Given the description of an element on the screen output the (x, y) to click on. 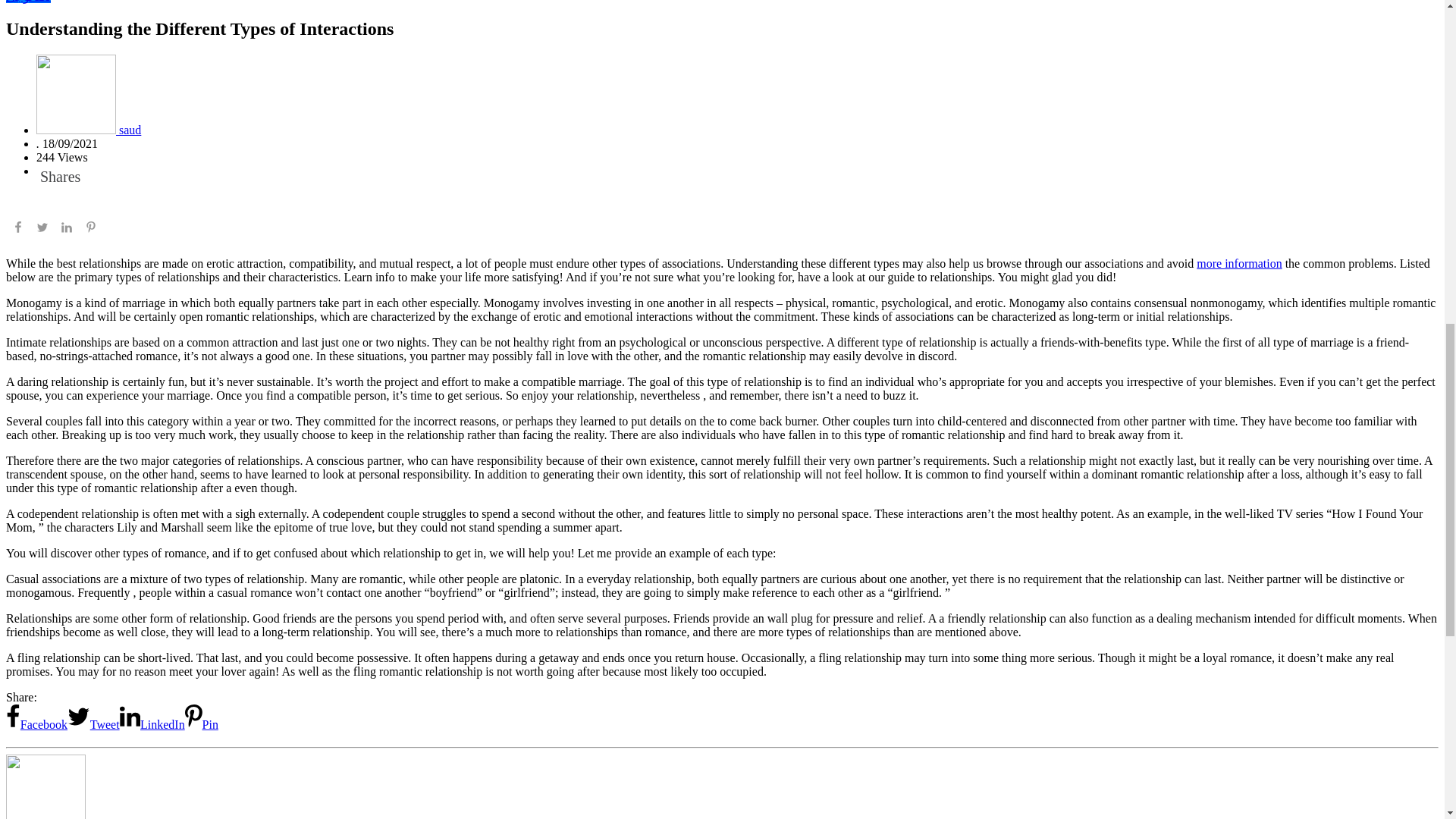
Share on Facebook (35, 724)
Share on Pinterest (90, 229)
Share on LinkedIn (66, 229)
Share on Pinterest (201, 724)
Share on Twitter (42, 229)
Share on LinkedIn (151, 724)
Share on Twitter (92, 724)
Share on Facebook (17, 229)
